Given the description of an element on the screen output the (x, y) to click on. 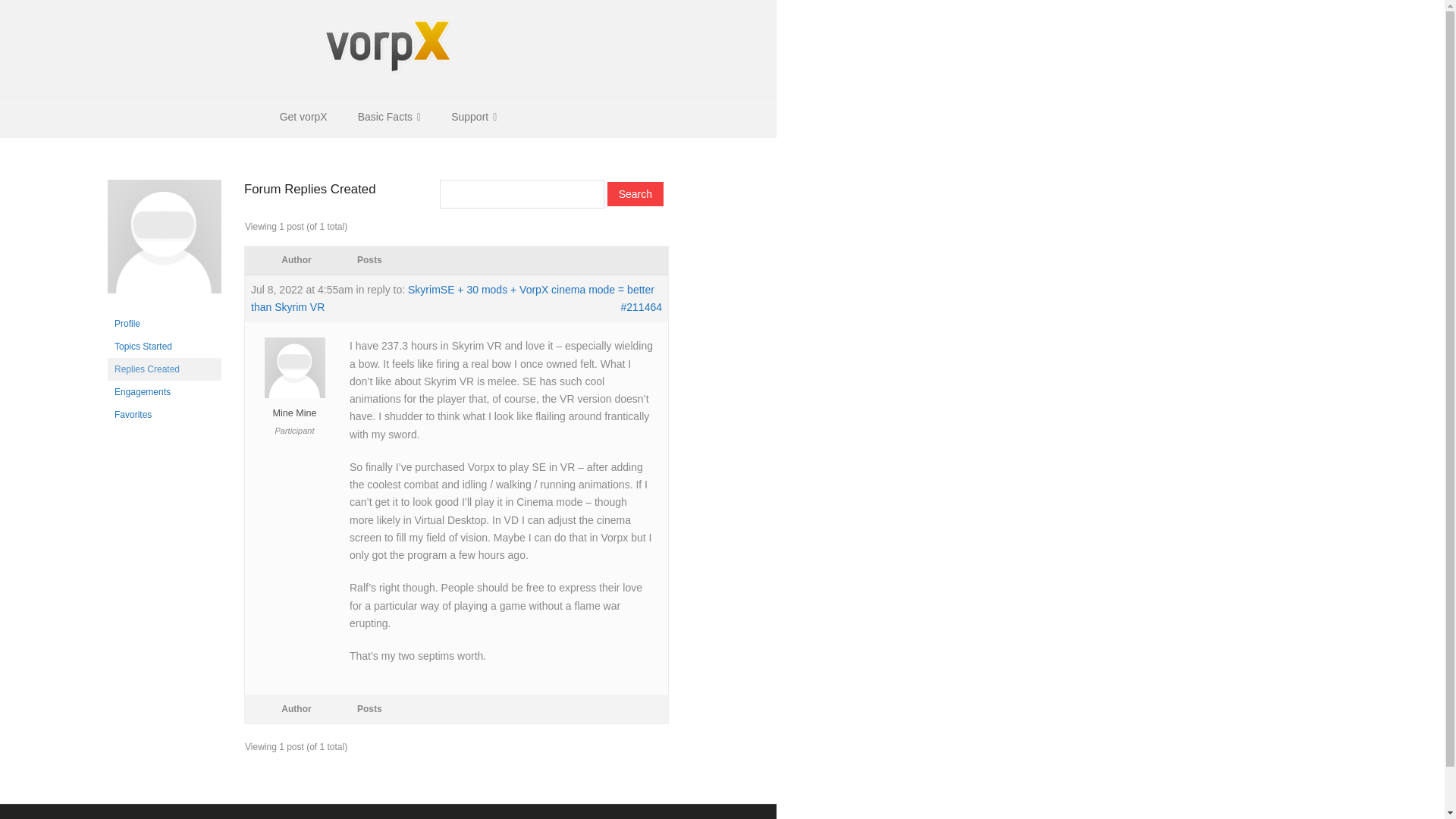
Mine Mine (164, 305)
Engagements (164, 391)
Mine Mine's Favorites (164, 414)
Search (635, 193)
Support FAQ (384, 818)
Mine Mine's Replies Created (164, 368)
Mine Mine's Engagements (164, 391)
Basic Facts (388, 116)
Replies Created (164, 368)
Profile (164, 323)
Topics Started (164, 345)
Get vorpX (303, 116)
Mine Mine (293, 405)
View Mine Mine's profile (293, 405)
